Given the description of an element on the screen output the (x, y) to click on. 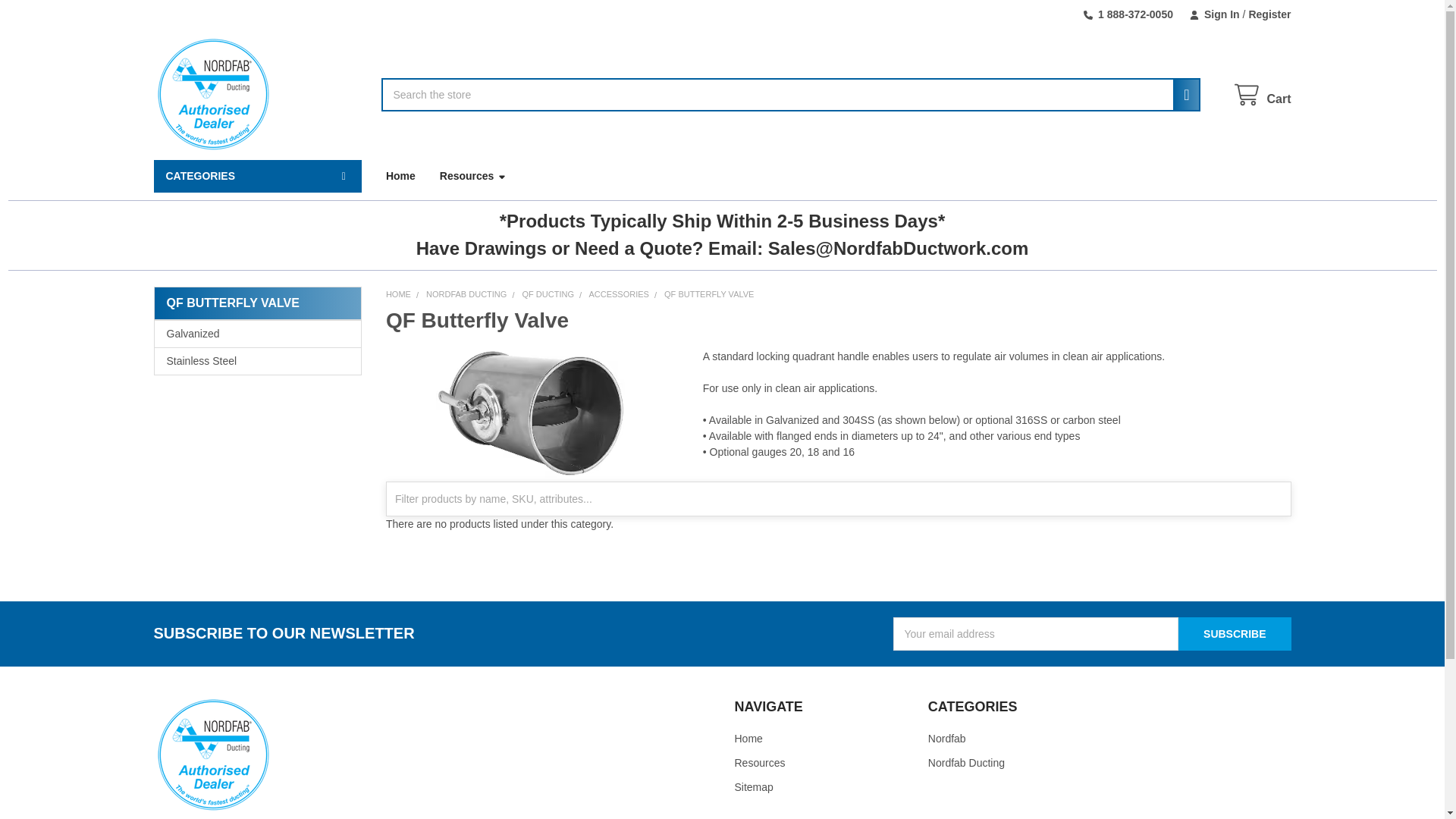
Nordfab Ductwork (211, 94)
Cart (1261, 95)
Register (1265, 14)
Cart (1261, 95)
1 888-372-0050 (1127, 14)
Sign In (1213, 14)
Stainless Steel (258, 360)
Search (1181, 94)
Search (1181, 94)
Subscribe (1233, 633)
